Given the description of an element on the screen output the (x, y) to click on. 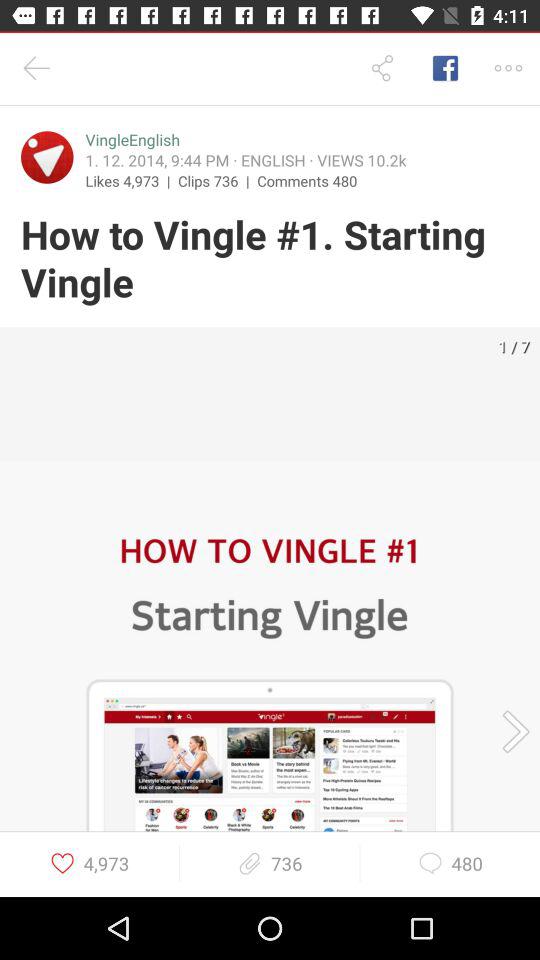
select the item to the right of clips 736  | (307, 180)
